Given the description of an element on the screen output the (x, y) to click on. 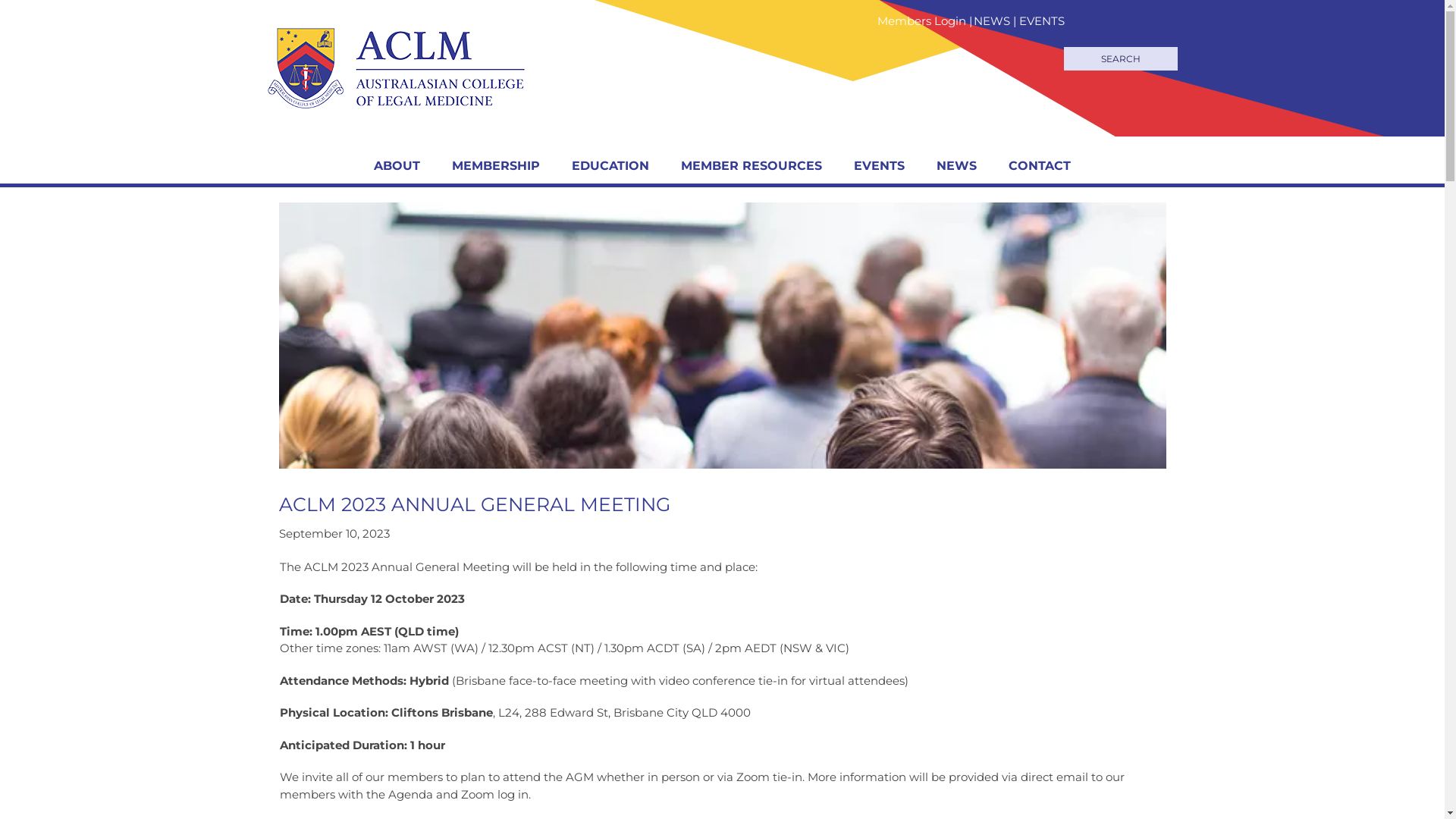
EVENTS Element type: text (878, 165)
MEMBER RESOURCES Element type: text (751, 165)
MEMBERSHIP Element type: text (495, 165)
Members Login | Element type: text (924, 20)
SEARCH Element type: text (1119, 59)
NEWS Element type: text (991, 20)
CONTACT Element type: text (1039, 165)
EVENTS Element type: text (1041, 20)
EDUCATION Element type: text (610, 165)
ABOUT Element type: text (396, 165)
ACLM 2023 ANNUAL GENERAL MEETING Element type: text (474, 503)
NEWS Element type: text (956, 165)
